Given the description of an element on the screen output the (x, y) to click on. 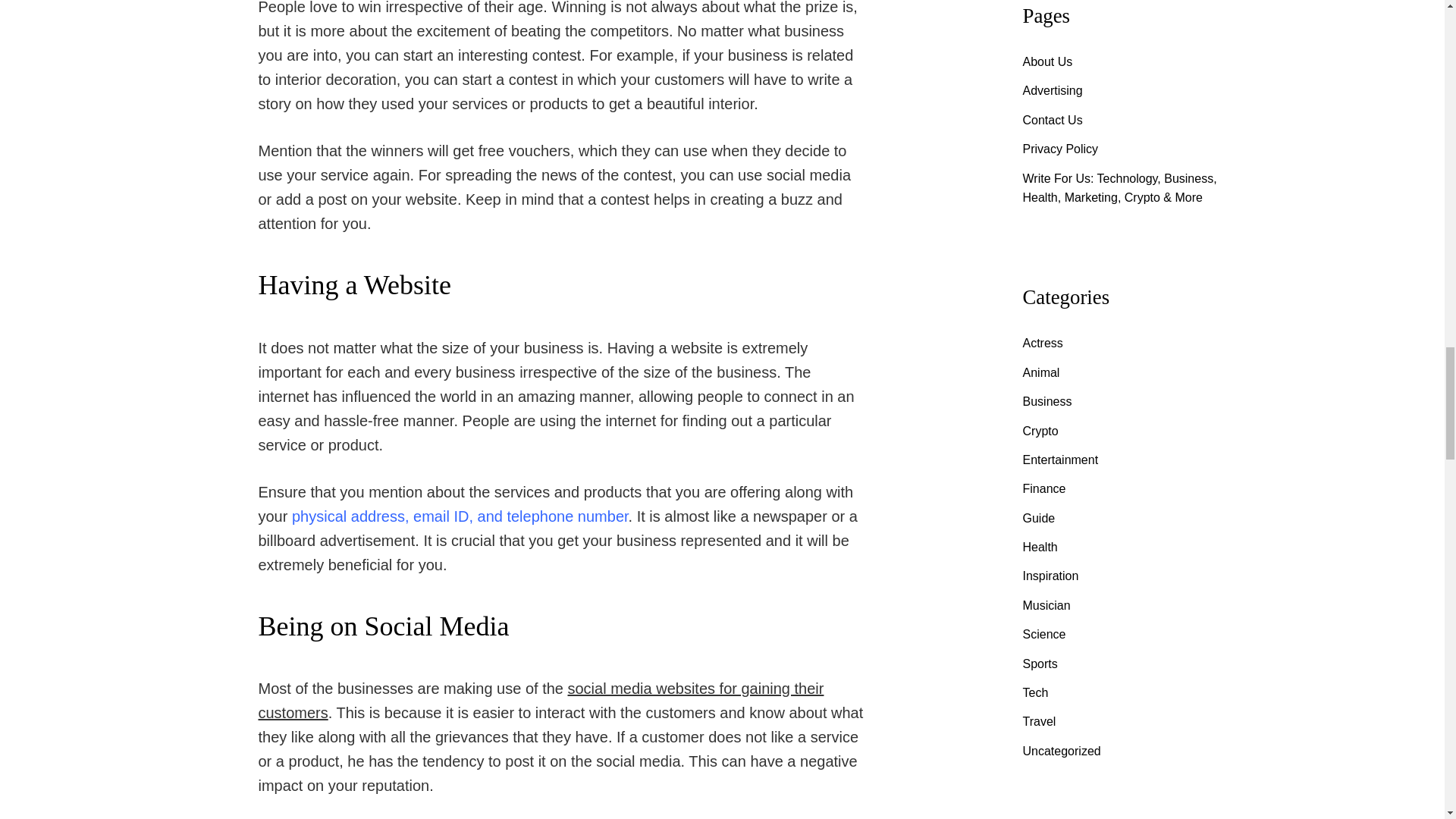
social media websites for gaining their customers (540, 700)
